Given the description of an element on the screen output the (x, y) to click on. 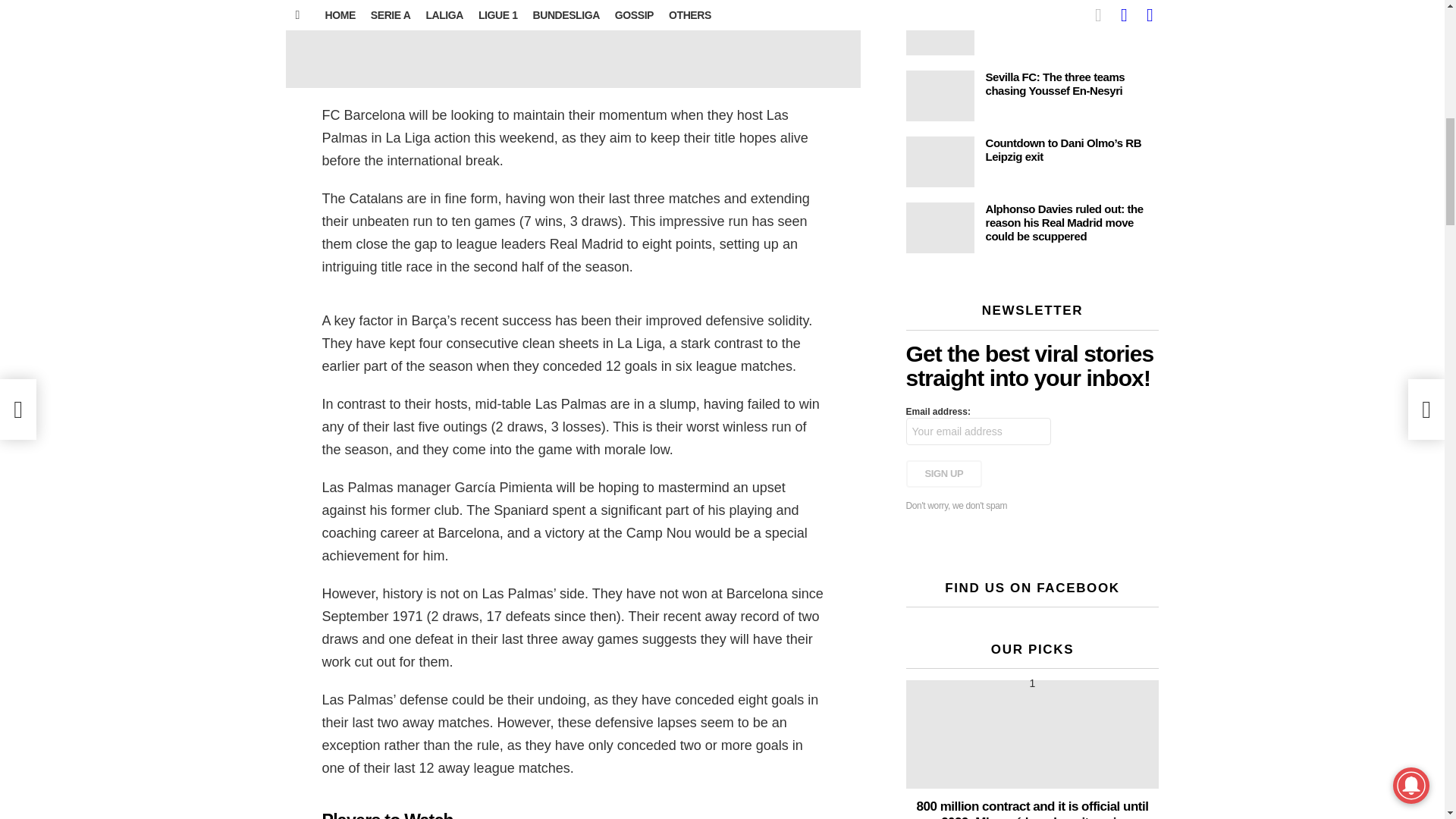
Sign up (943, 473)
